Given the description of an element on the screen output the (x, y) to click on. 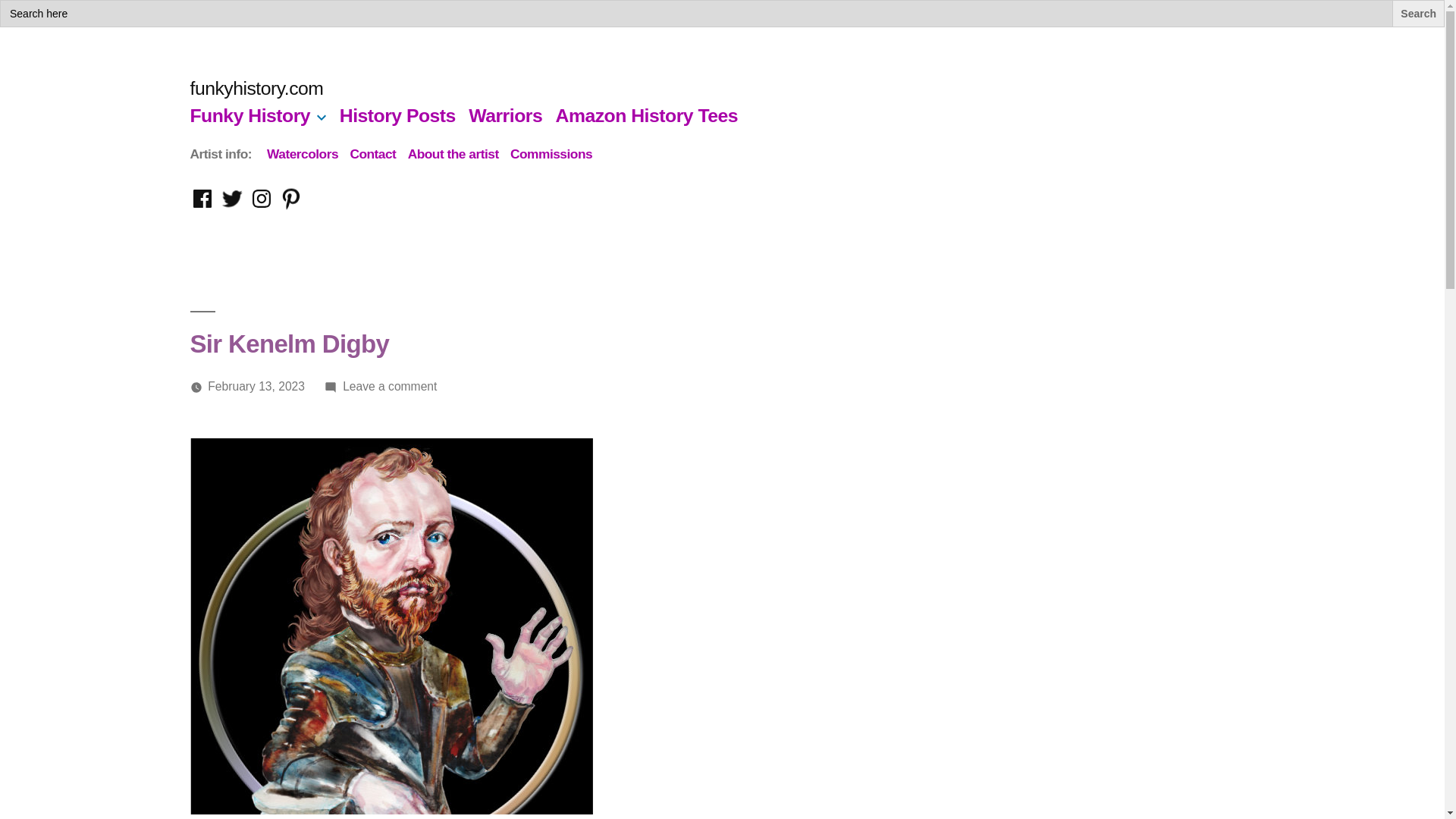
Instagram (260, 198)
Twitter (231, 198)
Funky History (249, 115)
funkyhistory.com (389, 386)
Pinterest (256, 87)
Warriors (290, 198)
Facebook (504, 115)
Watercolors (201, 198)
February 13, 2023 (301, 153)
